Given the description of an element on the screen output the (x, y) to click on. 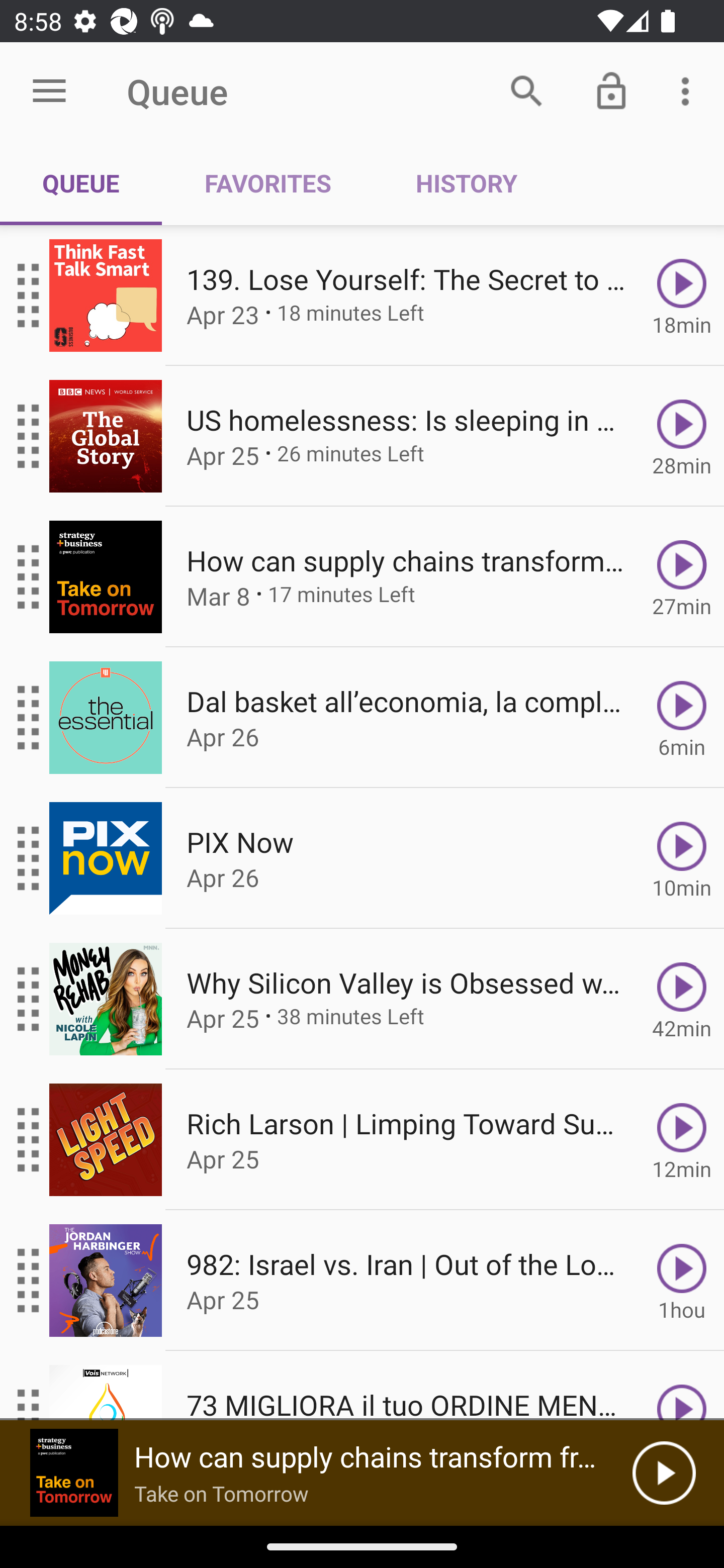
Open menu (49, 91)
Search (526, 90)
Lock Queue (611, 90)
More options (688, 90)
QUEUE (81, 183)
FAVORITES (267, 183)
HISTORY (465, 183)
Play 18min (681, 295)
Play 28min (681, 435)
Play 27min (681, 576)
Play 6min (681, 717)
Play 10min (681, 858)
Play 42min (681, 998)
Play 12min (681, 1139)
Play 1hou (681, 1280)
Play (681, 1385)
Play (663, 1472)
